Given the description of an element on the screen output the (x, y) to click on. 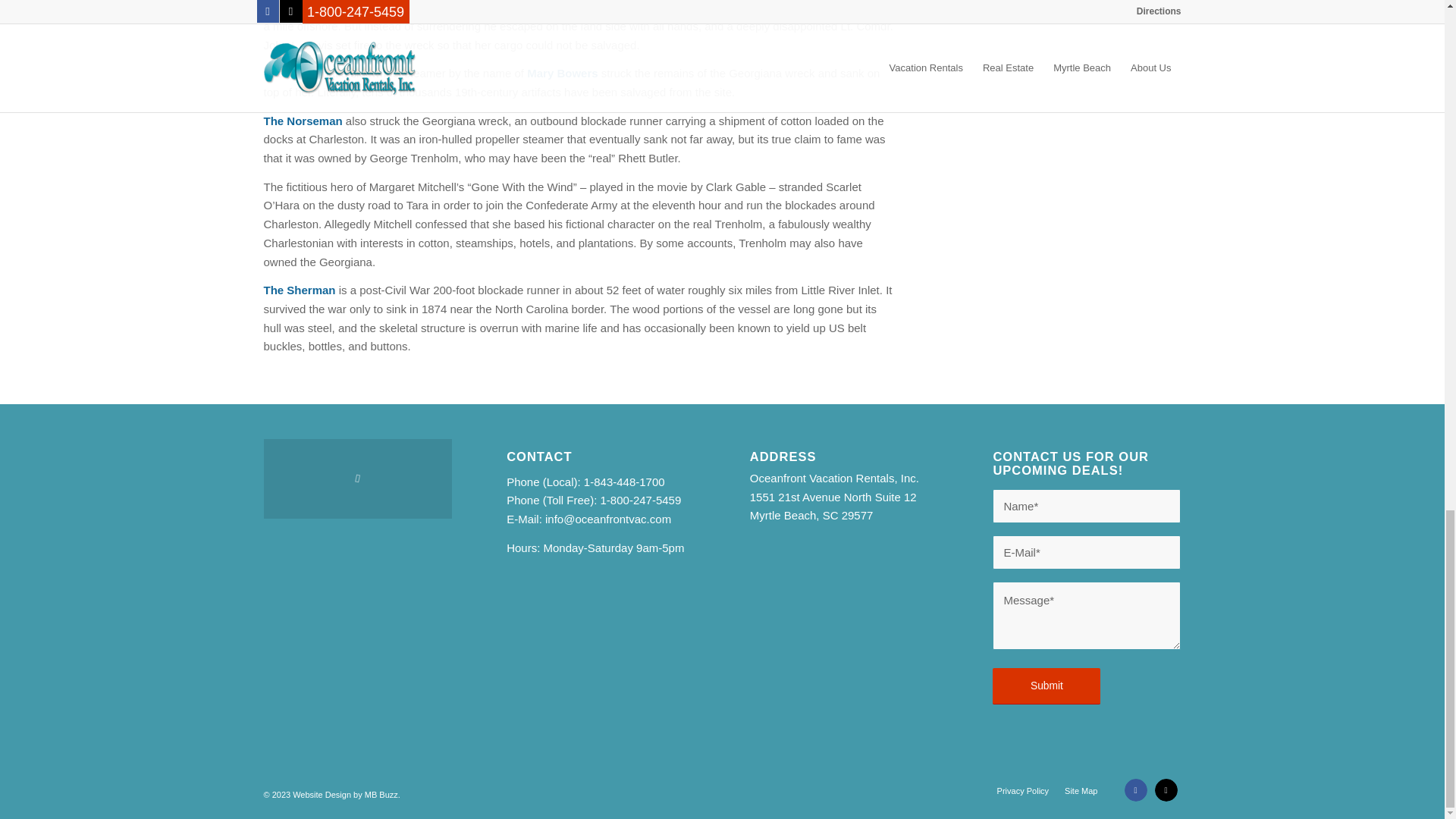
Twitter (1165, 789)
Facebook (1135, 789)
Submit (1046, 686)
